Given the description of an element on the screen output the (x, y) to click on. 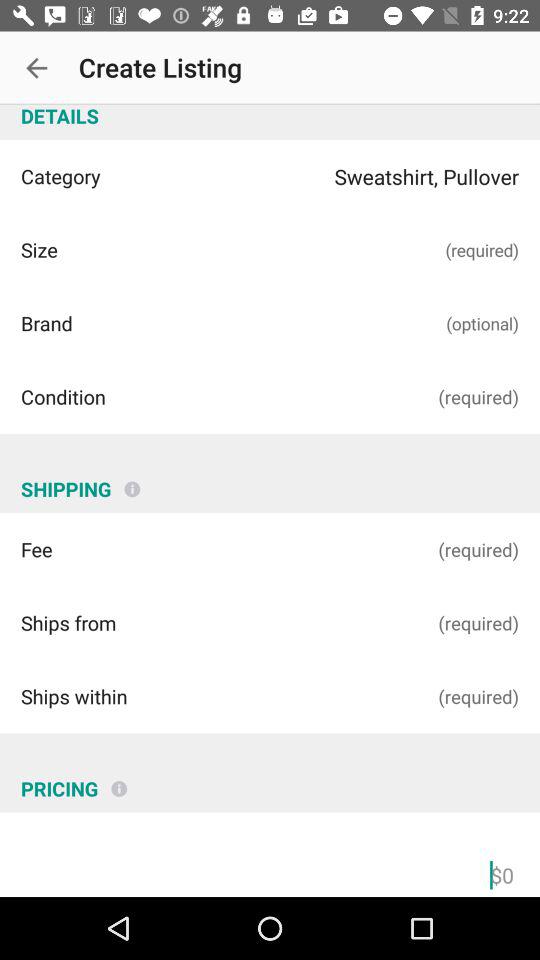
enter total price (270, 872)
